Given the description of an element on the screen output the (x, y) to click on. 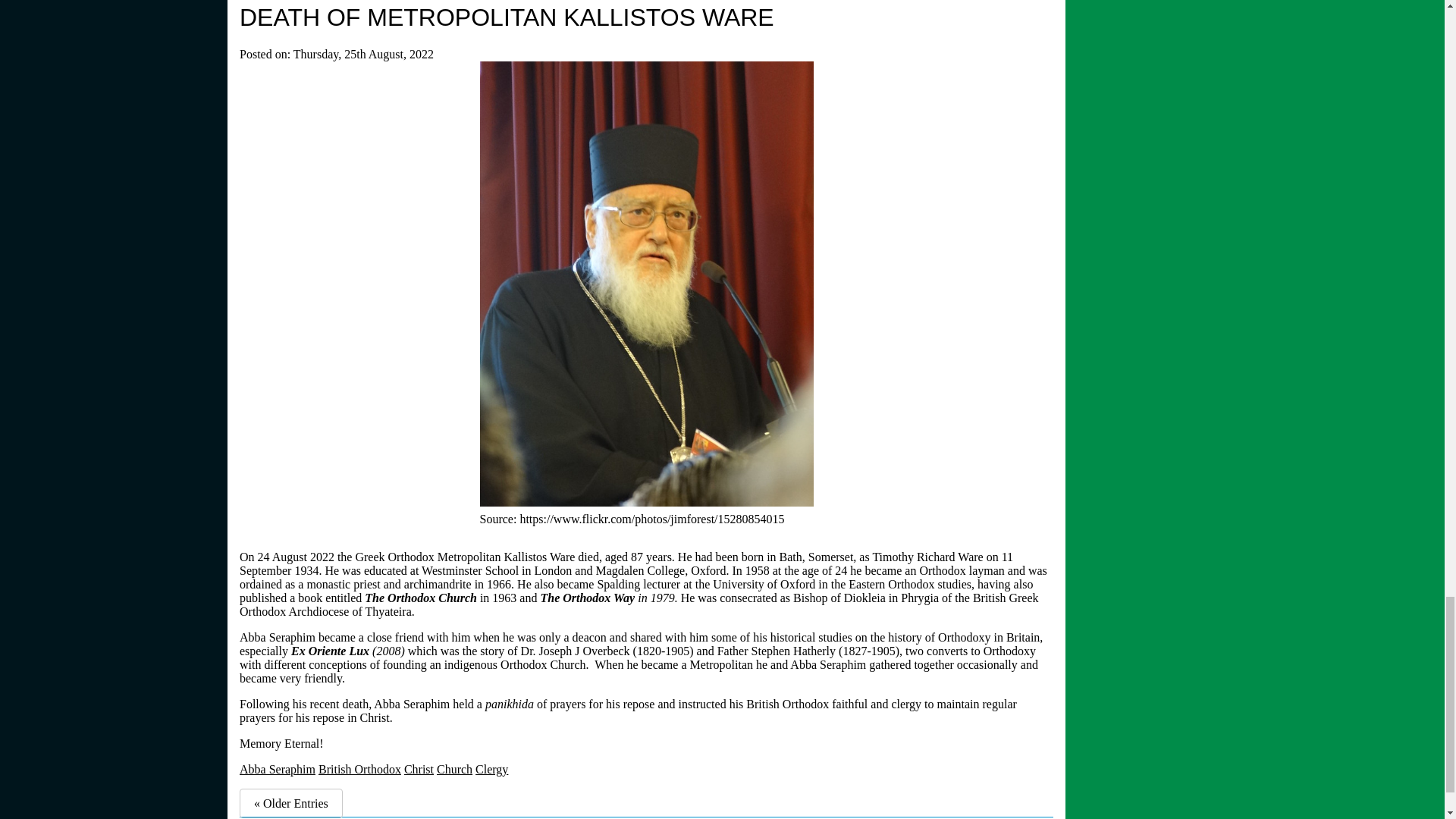
Church (453, 768)
British Orthodox (359, 768)
Christ (418, 768)
Clergy (492, 768)
DEATH OF METROPOLITAN KALLISTOS WARE (507, 17)
Death of Metropolitan Kallistos Ware (507, 17)
Abba Seraphim (277, 768)
